Given the description of an element on the screen output the (x, y) to click on. 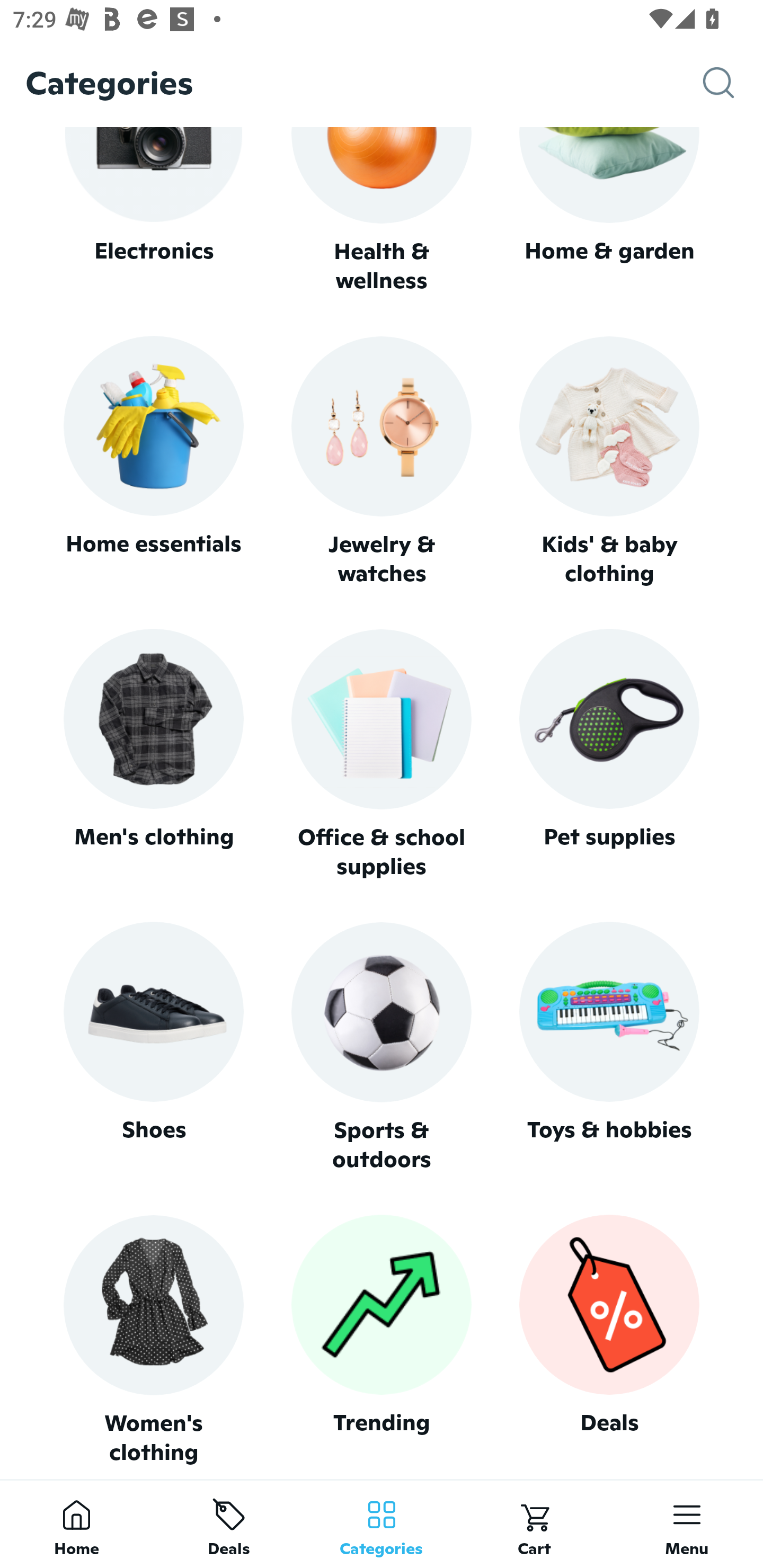
Search (732, 82)
Electronics (153, 210)
Health & wellness (381, 210)
Home & garden (609, 210)
Home essentials (153, 461)
Jewelry & watches (381, 462)
Kids' & baby clothing (609, 462)
Men's clothing (153, 753)
Pet supplies (609, 753)
Office & school supplies (381, 753)
Shoes (153, 1046)
Toys & hobbies (609, 1046)
Sports & outdoors (381, 1046)
Trending (381, 1340)
Deals (609, 1340)
Women's clothing (153, 1340)
Home (76, 1523)
Deals (228, 1523)
Categories (381, 1523)
Cart (533, 1523)
Menu (686, 1523)
